Given the description of an element on the screen output the (x, y) to click on. 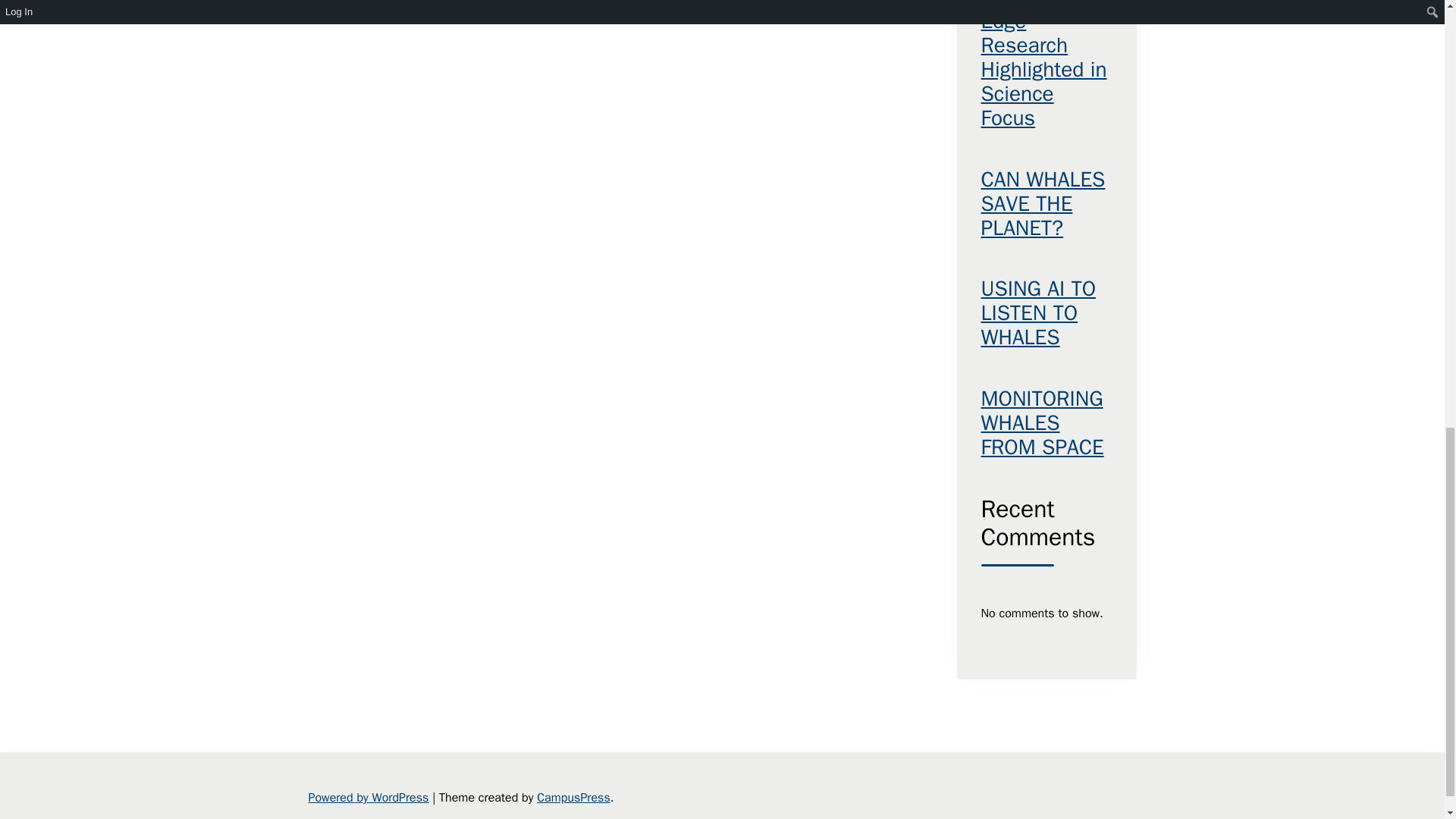
MONITORING WHALES FROM SPACE (1046, 423)
Powered by WordPress (367, 797)
CAN WHALES SAVE THE PLANET? (1046, 203)
USING AI TO LISTEN TO WHALES (1046, 313)
CampusPress (573, 797)
